Given the description of an element on the screen output the (x, y) to click on. 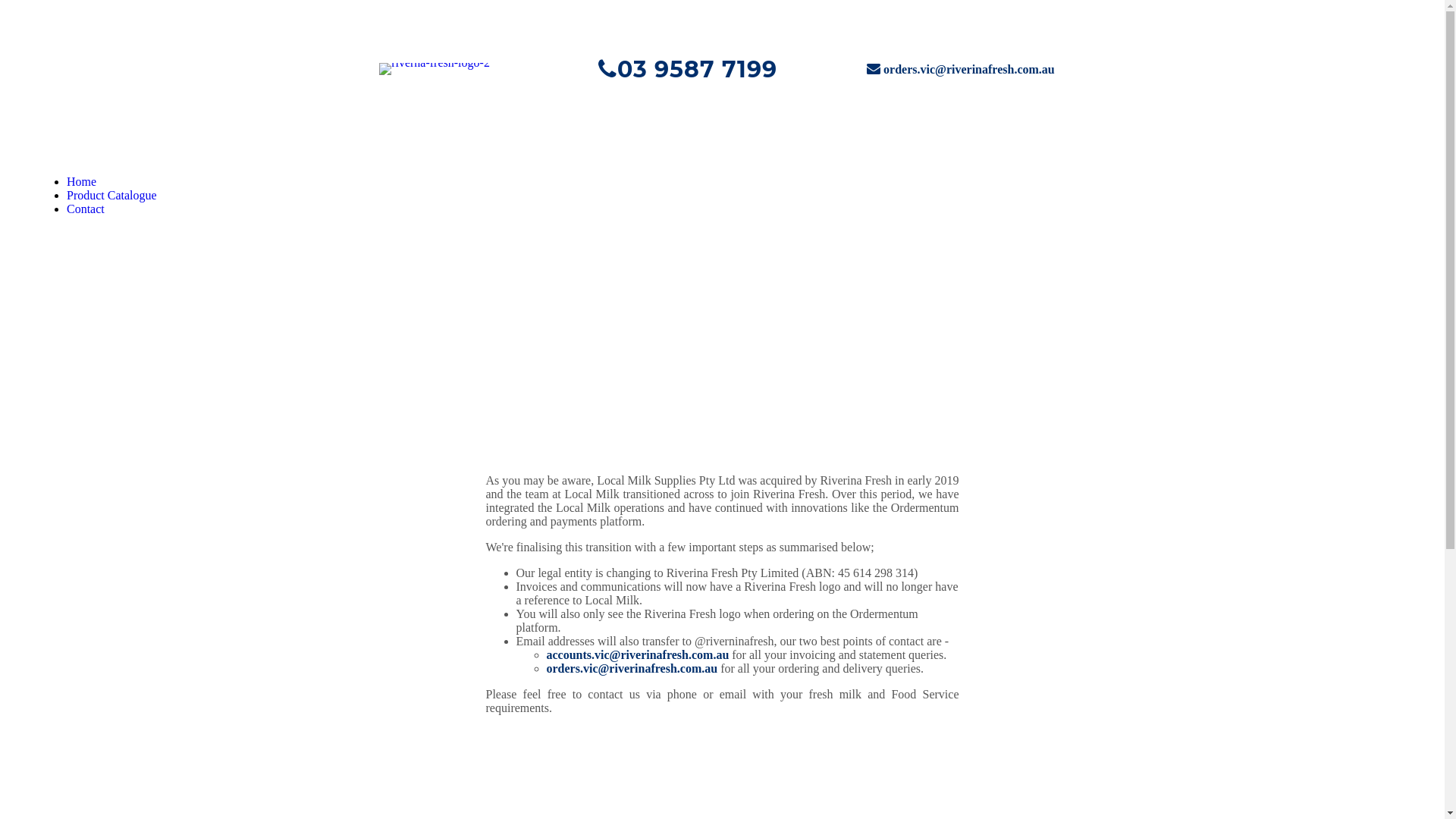
riverna-fresh-logo-2 Element type: hover (434, 68)
accounts.vic@riverinafresh.com.au Element type: text (637, 654)
orders.vic@riverinafresh.com.au Element type: text (631, 668)
Home Element type: text (81, 181)
Contact Element type: text (85, 208)
Product Catalogue Element type: text (111, 194)
orders.vic@riverinafresh.com.au Element type: text (968, 68)
